Given the description of an element on the screen output the (x, y) to click on. 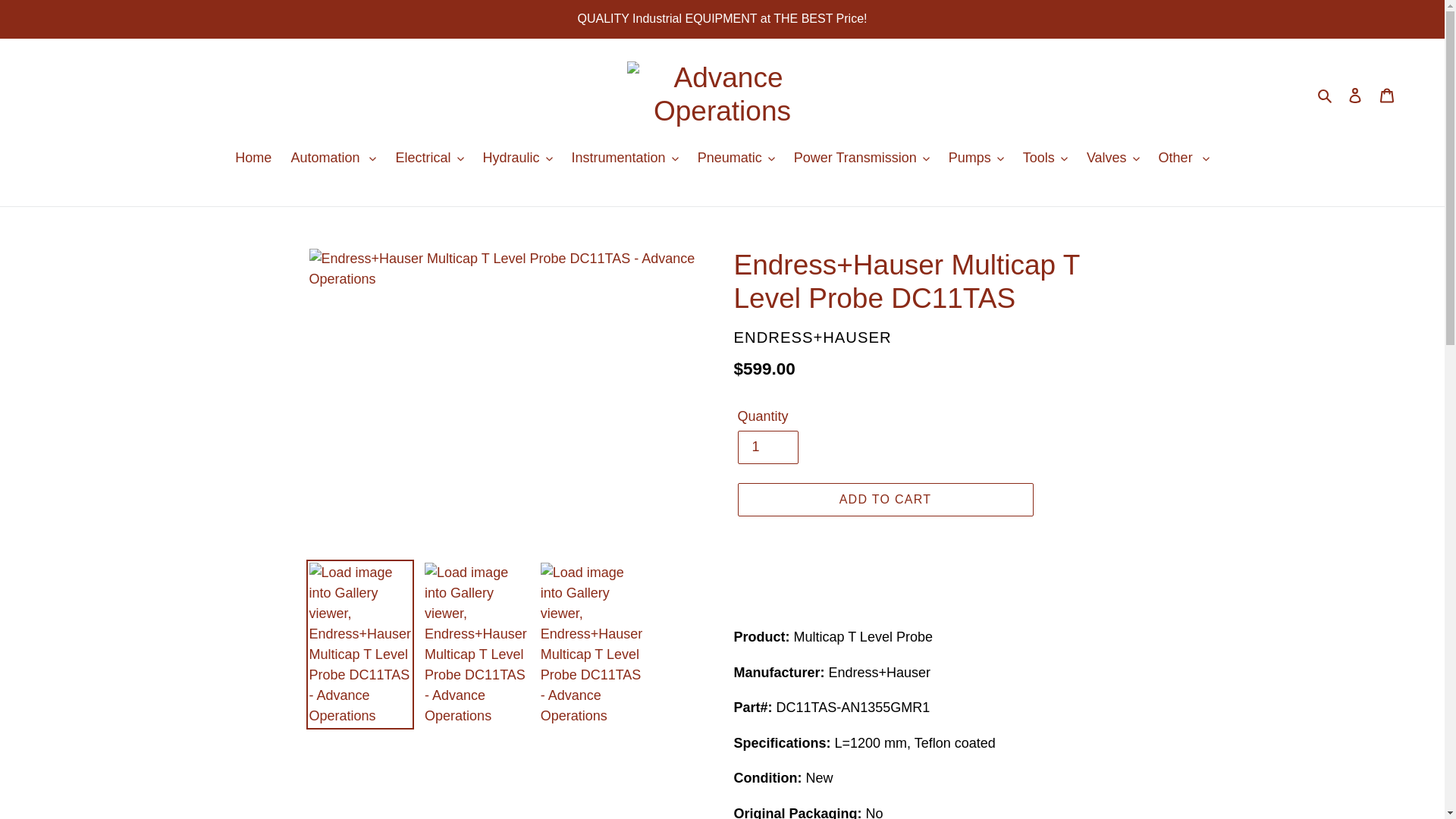
Home Element type: text (253, 158)
Search Element type: text (1325, 95)
Log in Element type: text (1355, 94)
Electrical Element type: text (428, 158)
Power Transmission Element type: text (861, 158)
Valves Element type: text (1113, 158)
Automation Element type: text (332, 158)
Tools Element type: text (1045, 158)
Other Element type: text (1184, 158)
Pumps Element type: text (976, 158)
ADD TO CART Element type: text (884, 499)
Cart Element type: text (1386, 94)
Pneumatic Element type: text (736, 158)
Hydraulic Element type: text (517, 158)
Instrumentation Element type: text (625, 158)
